Given the description of an element on the screen output the (x, y) to click on. 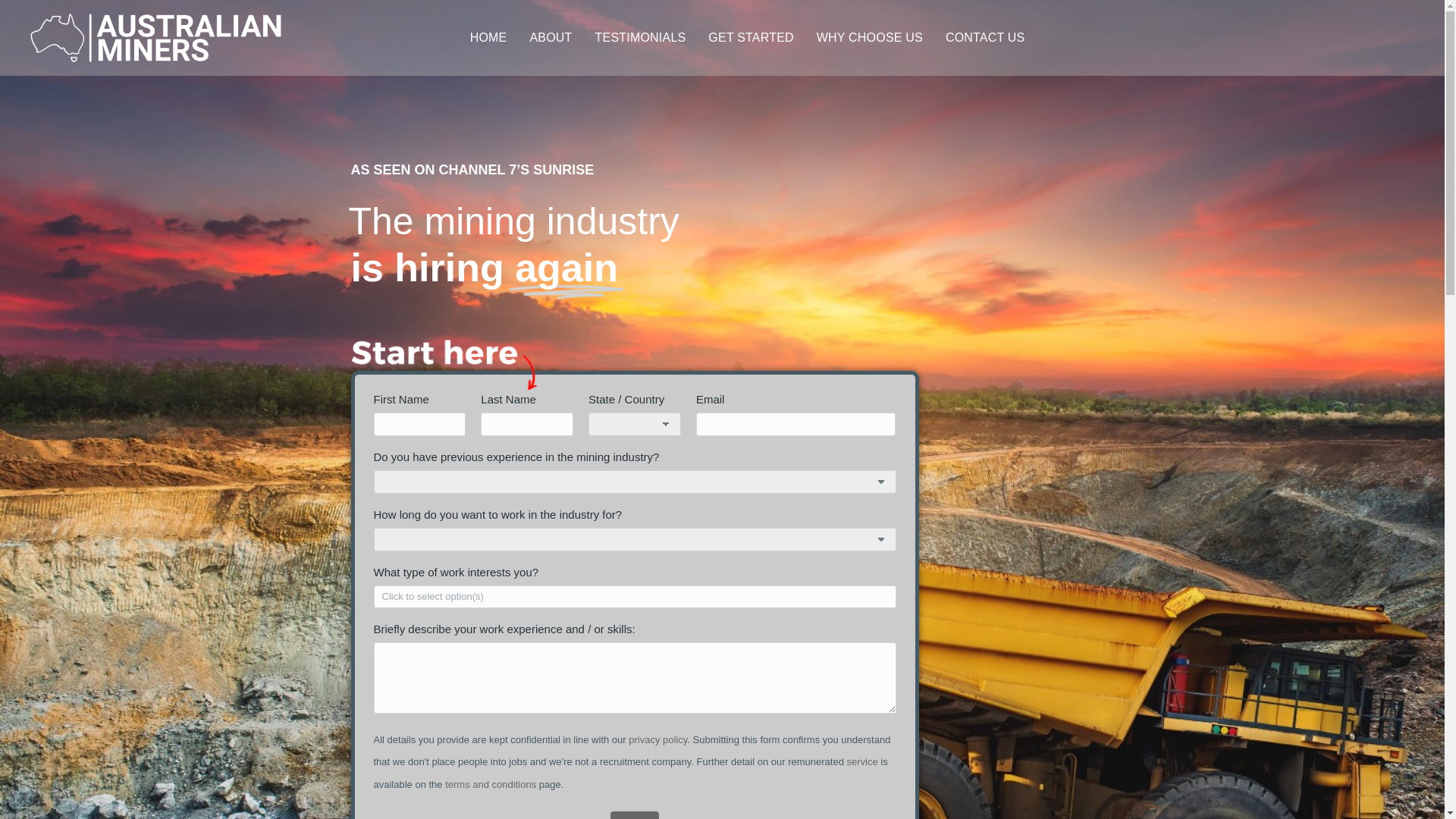
CONTACT US (984, 38)
Send (634, 815)
terms and conditions (490, 784)
HOME (488, 38)
GET STARTED (750, 38)
service (862, 761)
privacy policy (657, 739)
TESTIMONIALS (640, 38)
ABOUT (550, 38)
WHY CHOOSE US (869, 38)
